Given the description of an element on the screen output the (x, y) to click on. 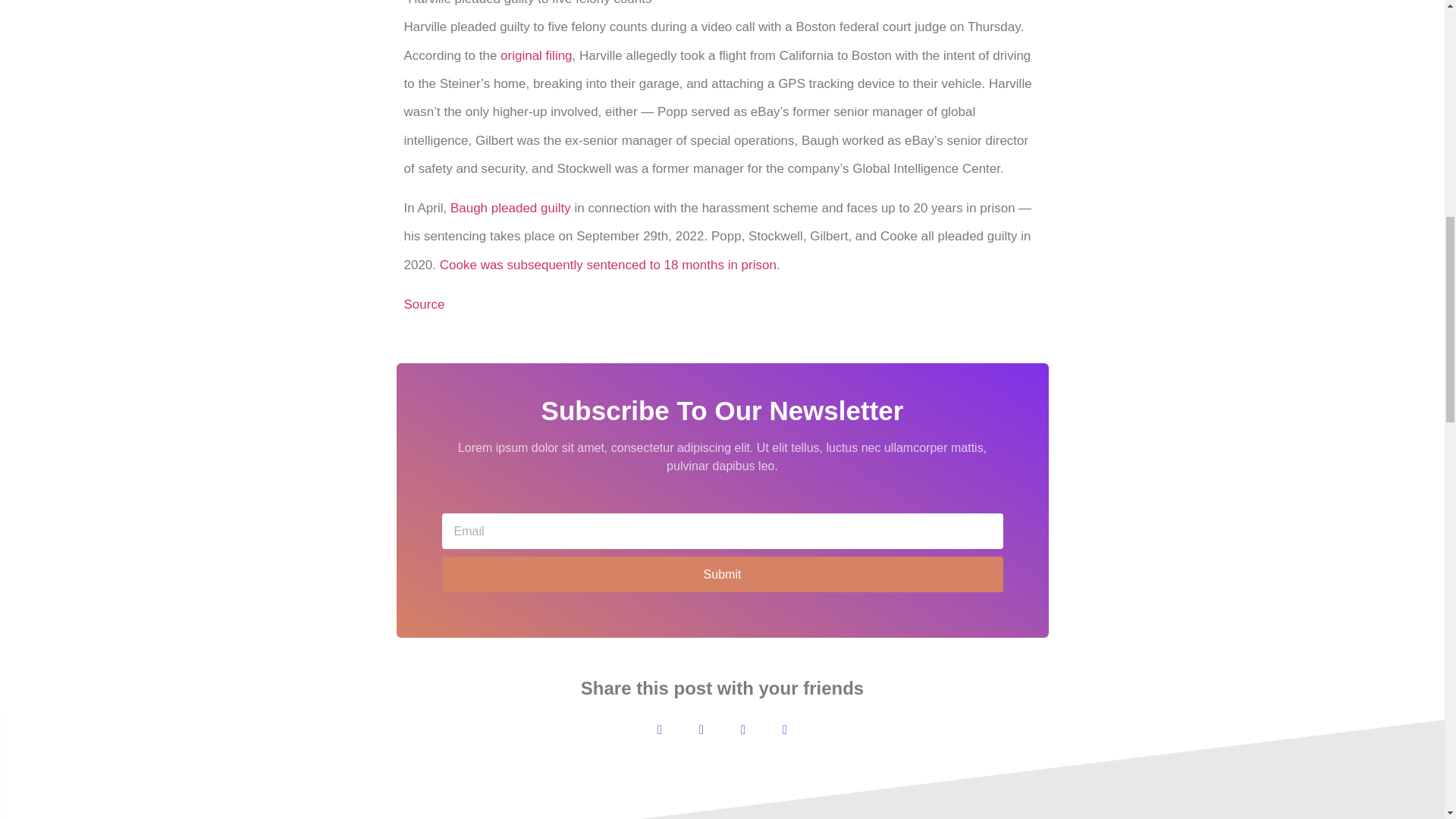
Submit (722, 574)
original filing (536, 55)
Source (423, 304)
Cooke was subsequently sentenced to 18 months in prison (607, 264)
Baugh pleaded guilty (509, 207)
